Given the description of an element on the screen output the (x, y) to click on. 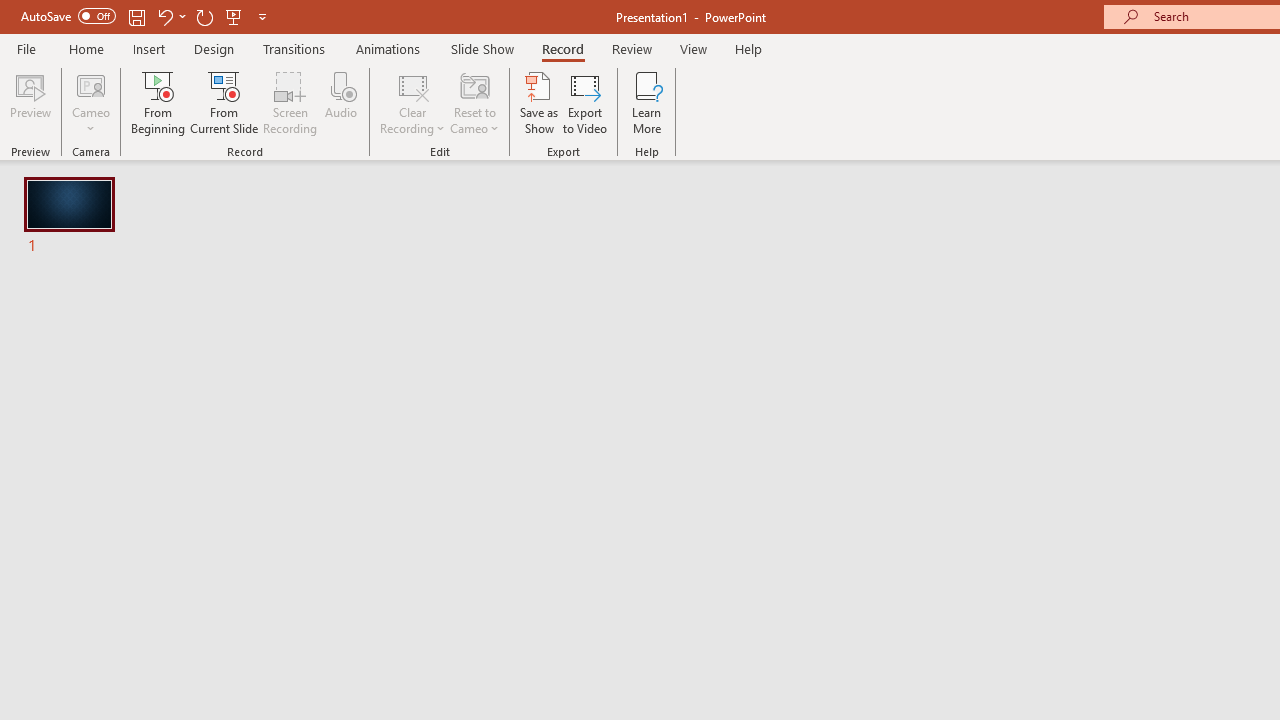
Design (214, 48)
Quick Access Toolbar (145, 16)
AutoSave (68, 16)
Transitions (294, 48)
Cameo (91, 102)
Animations (388, 48)
